Given the description of an element on the screen output the (x, y) to click on. 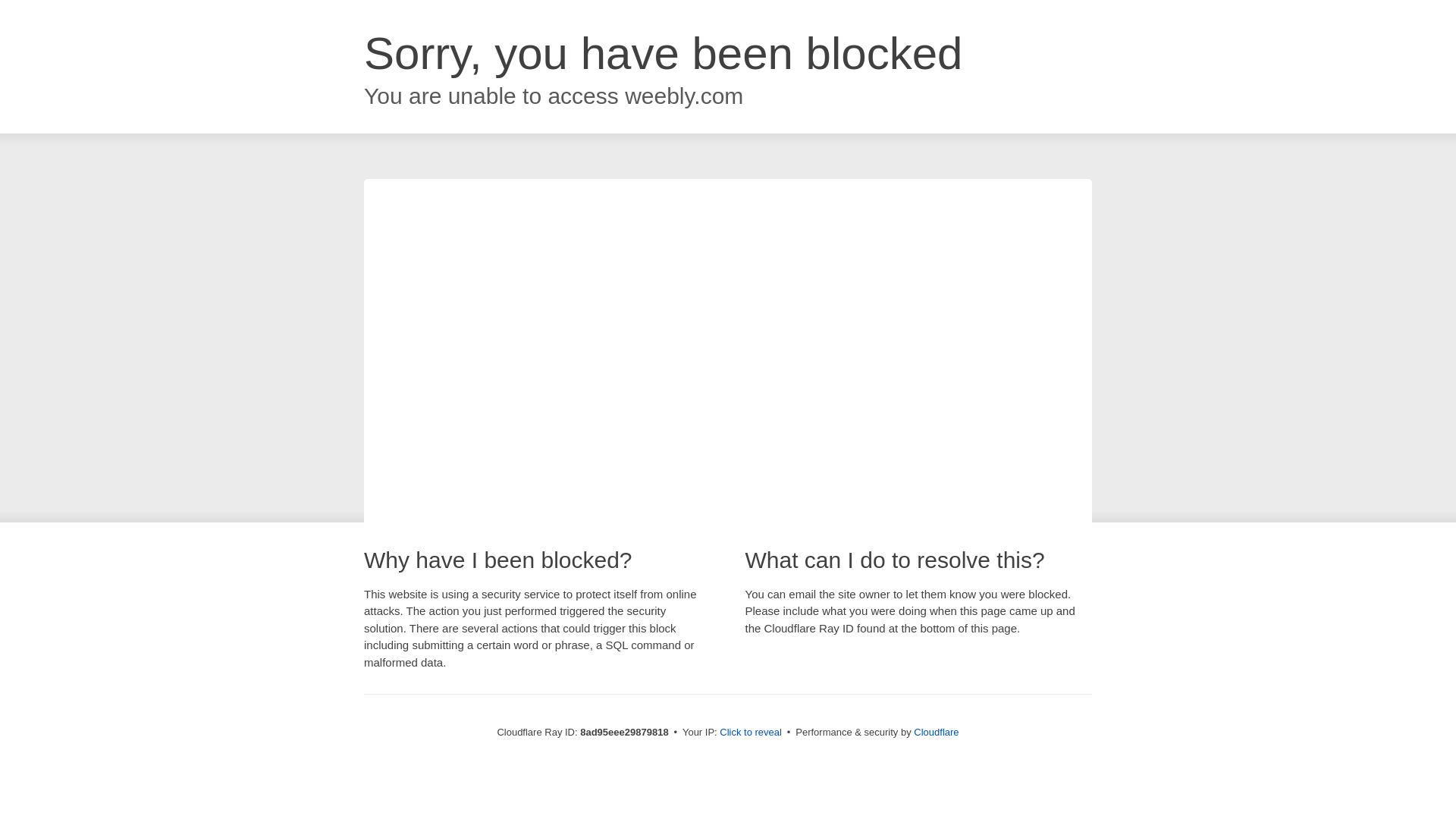
Click to reveal (750, 732)
Cloudflare (936, 731)
